Given the description of an element on the screen output the (x, y) to click on. 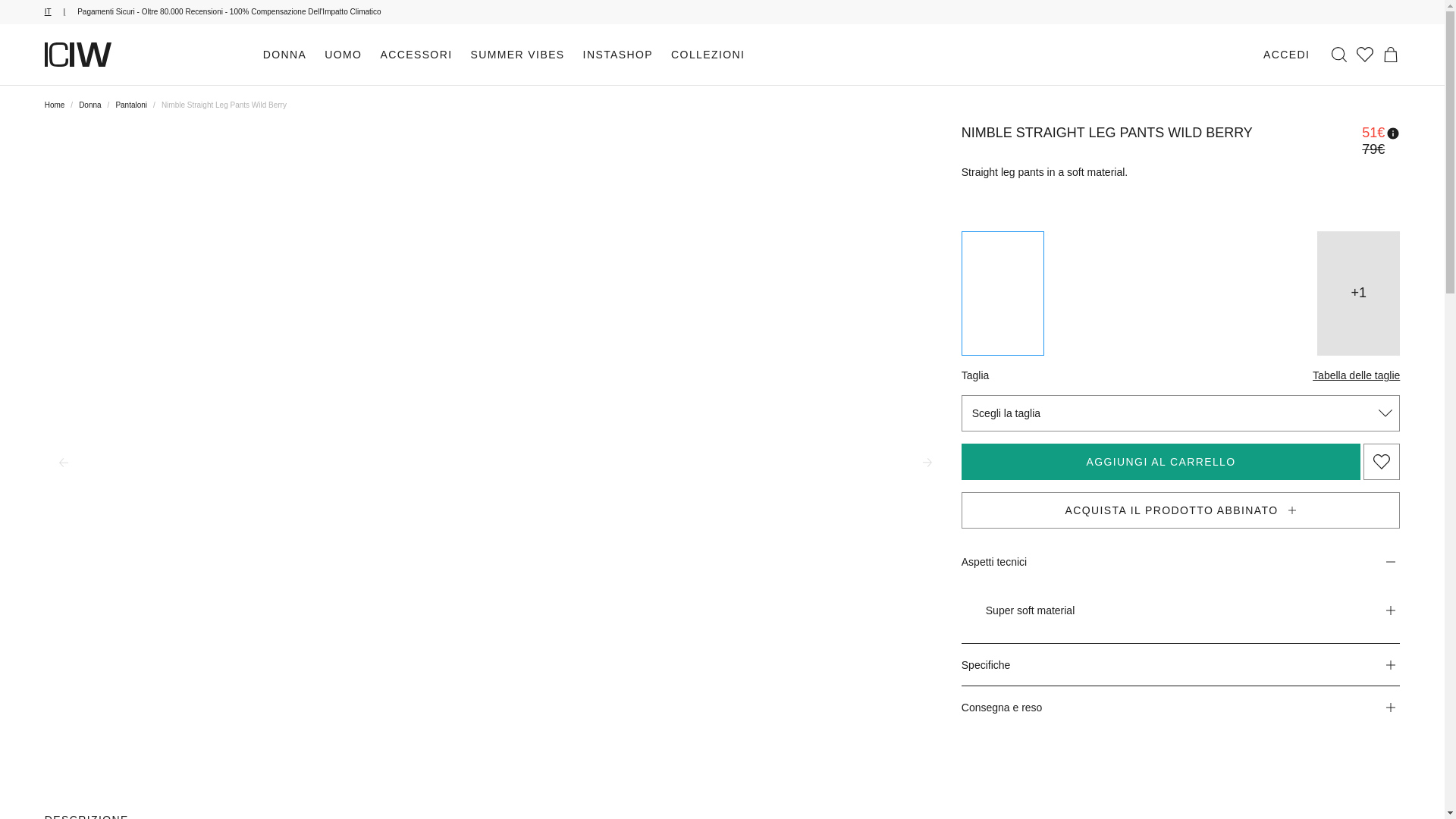
IT (61, 11)
